Given the description of an element on the screen output the (x, y) to click on. 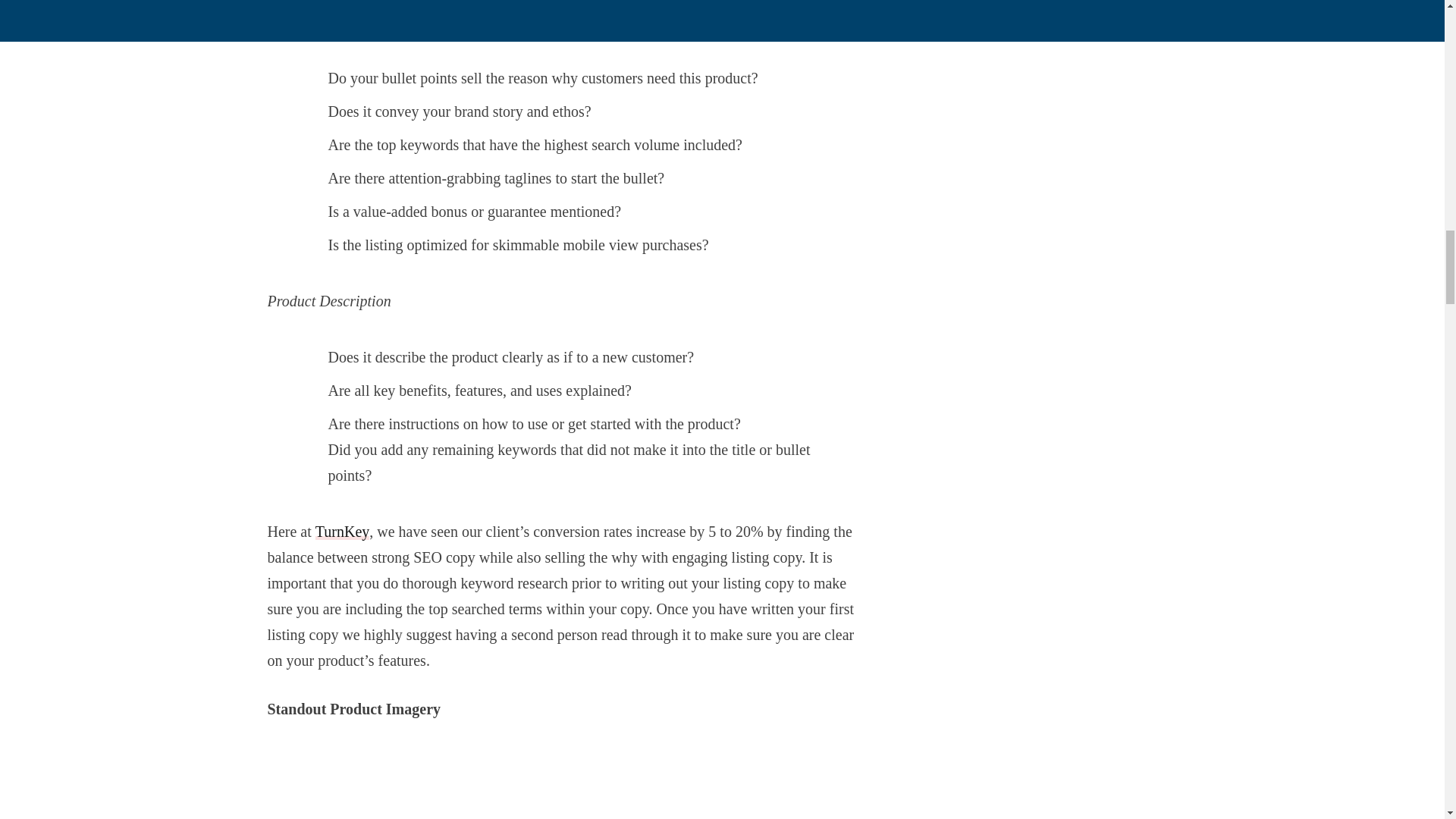
TurnKey (342, 531)
